Given the description of an element on the screen output the (x, y) to click on. 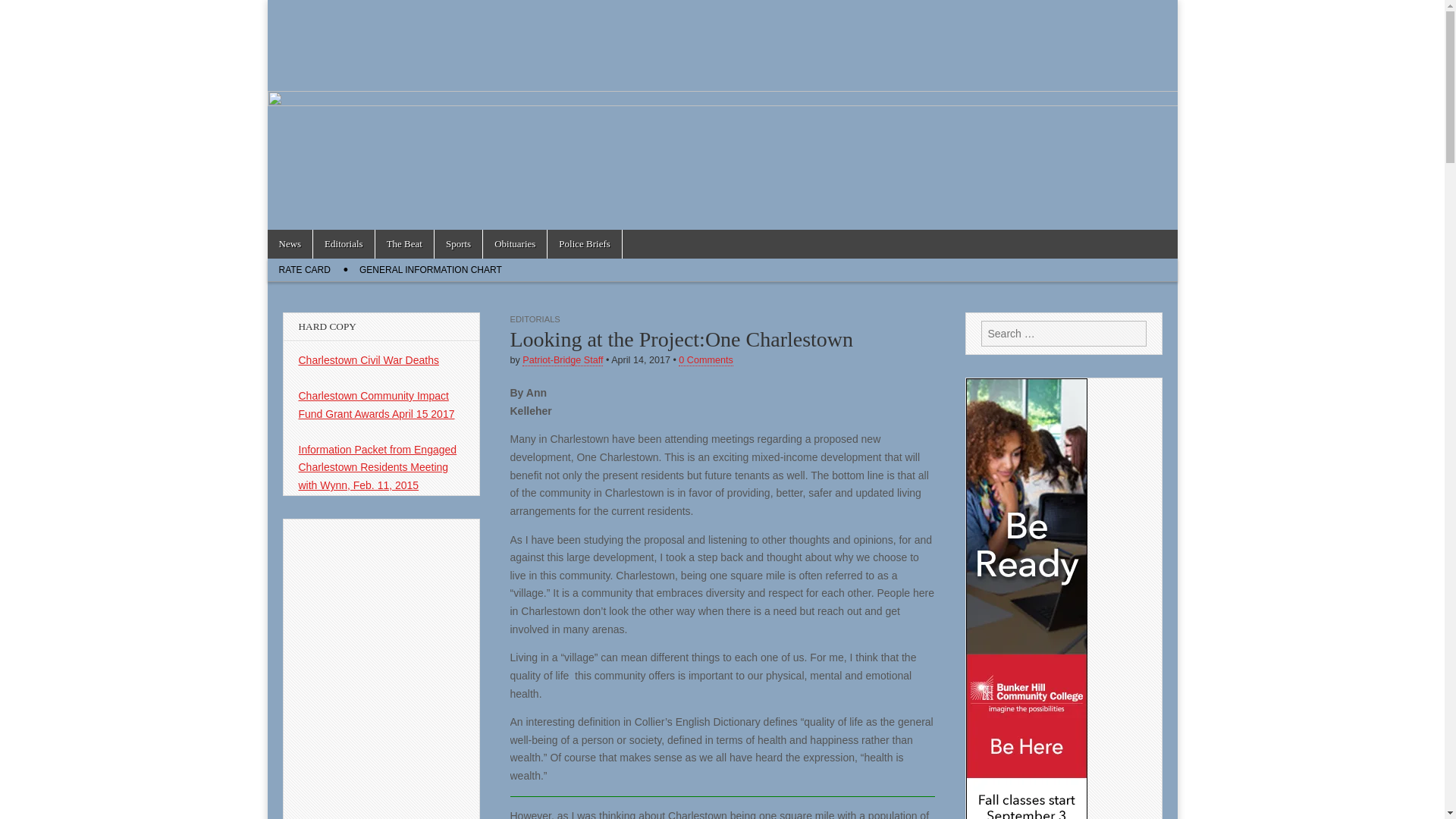
News (289, 244)
Charlestown Civil War Deaths (368, 359)
Search (23, 12)
GENERAL INFORMATION CHART (430, 269)
Obituaries (515, 244)
Charlestown Community Impact Fund Grant Awards April 15 2017 (376, 404)
Posts by Patriot-Bridge Staff (562, 360)
RATE CARD (303, 269)
Sports (457, 244)
Editorials (343, 244)
0 Comments (705, 360)
EDITORIALS (534, 318)
The Beat (404, 244)
